Given the description of an element on the screen output the (x, y) to click on. 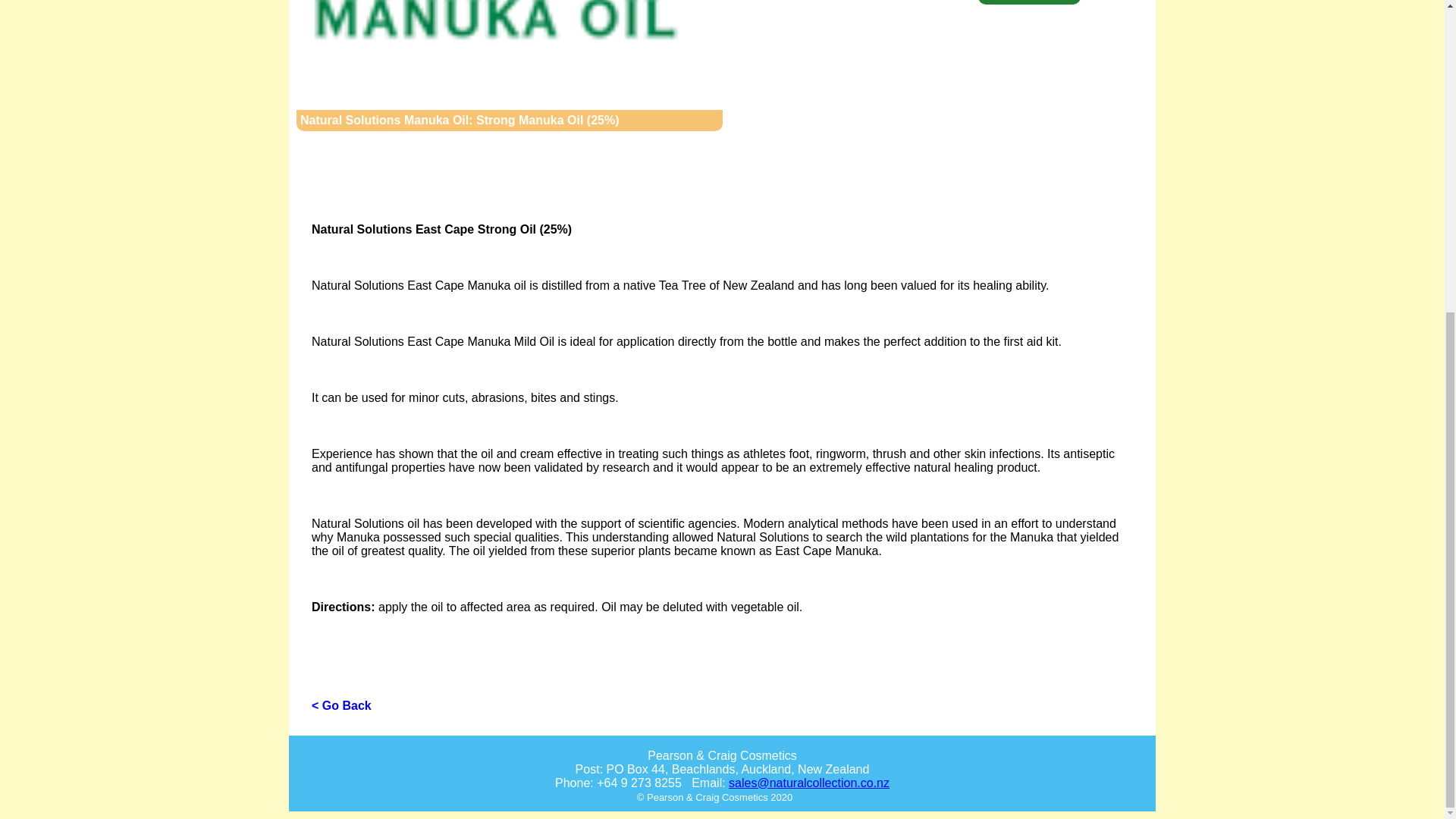
Go back to Natural Solutions Manuka Oil category (496, 30)
ADD TO CART (1028, 3)
